Given the description of an element on the screen output the (x, y) to click on. 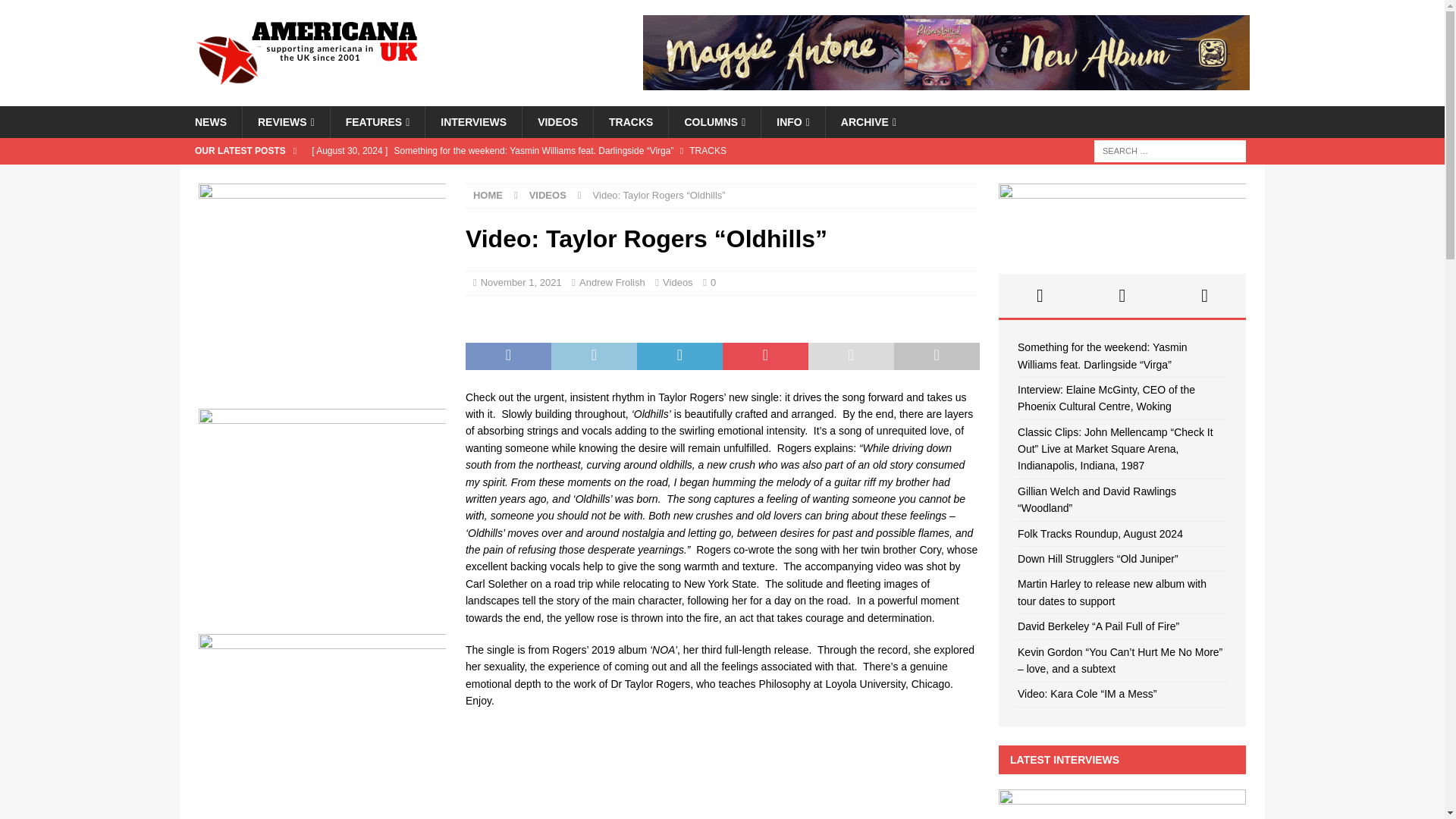
TRACKS (630, 122)
NEWS (210, 122)
INFO (792, 122)
REVIEWS (285, 122)
COLUMNS (714, 122)
VIDEOS (556, 122)
INTERVIEWS (473, 122)
oldhills (722, 771)
ARCHIVE (868, 122)
